Given the description of an element on the screen output the (x, y) to click on. 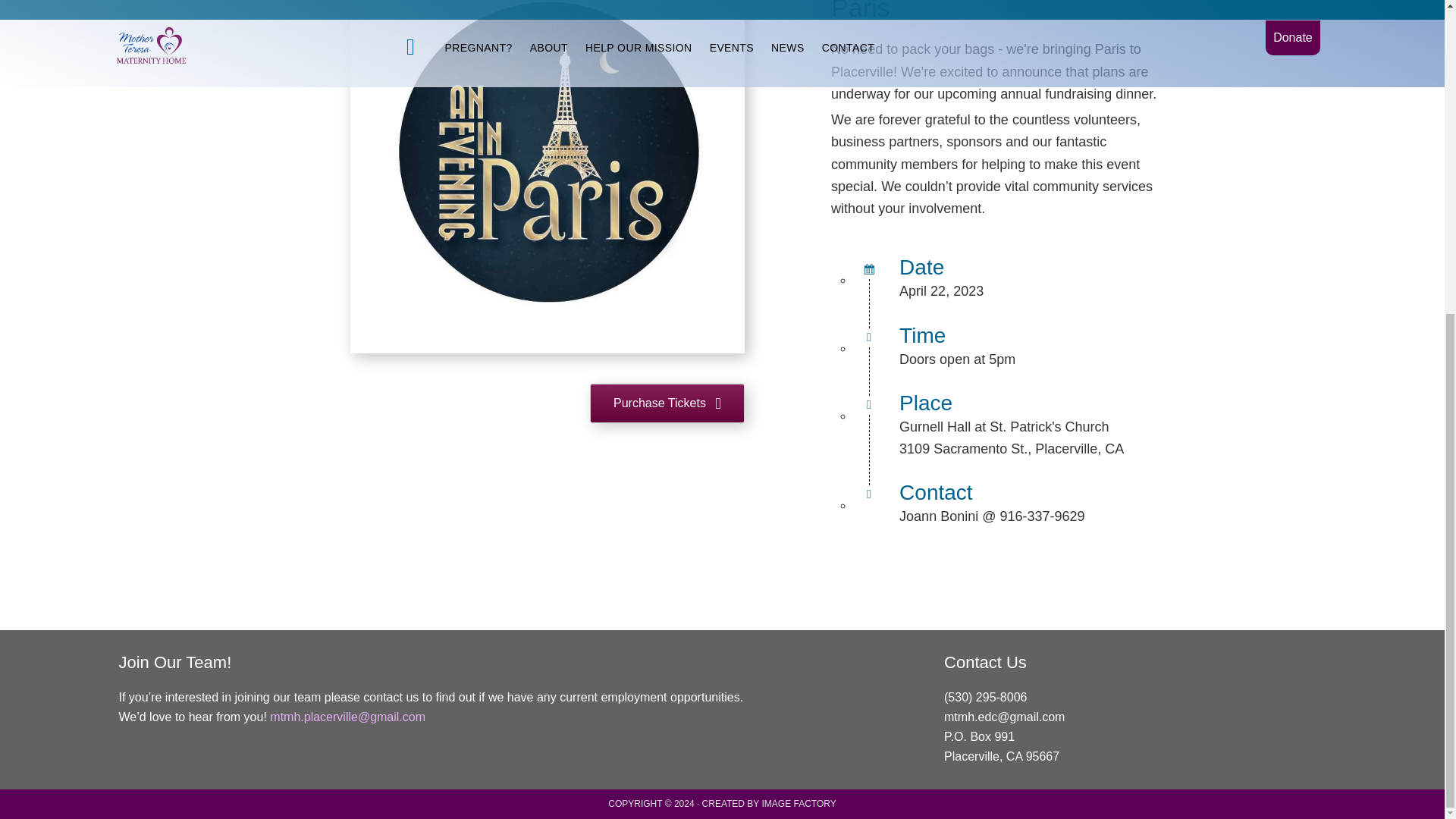
Purchase Tickets (666, 404)
